Given the description of an element on the screen output the (x, y) to click on. 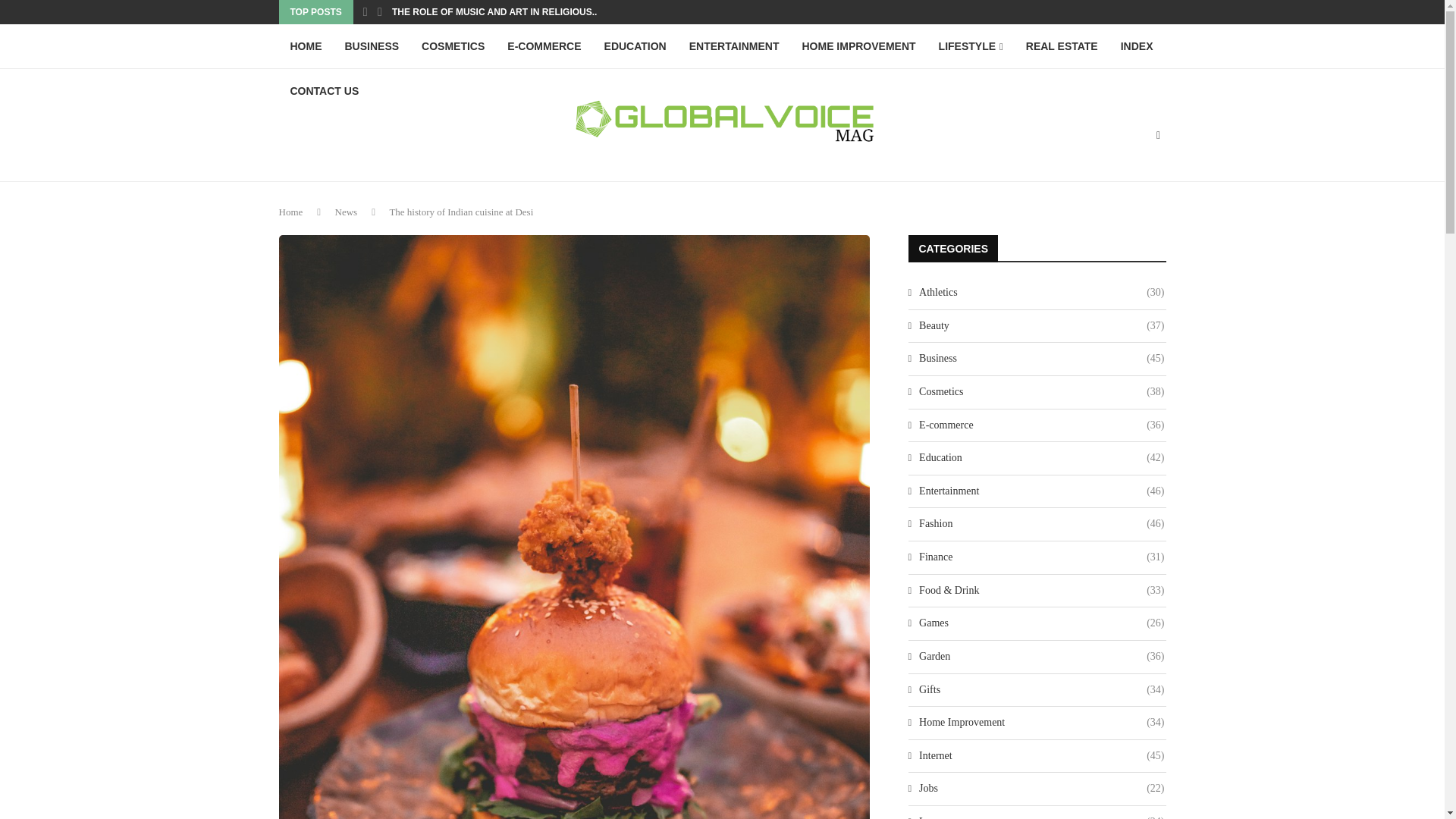
EDUCATION (635, 46)
HOME (306, 46)
COSMETICS (453, 46)
INDEX (1136, 46)
BUSINESS (371, 46)
LIFESTYLE (970, 46)
Home (290, 211)
HOME IMPROVEMENT (858, 46)
CONTACT US (325, 90)
ENTERTAINMENT (734, 46)
THE ROLE OF MUSIC AND ART IN RELIGIOUS... (495, 12)
E-COMMERCE (544, 46)
REAL ESTATE (1061, 46)
